Given the description of an element on the screen output the (x, y) to click on. 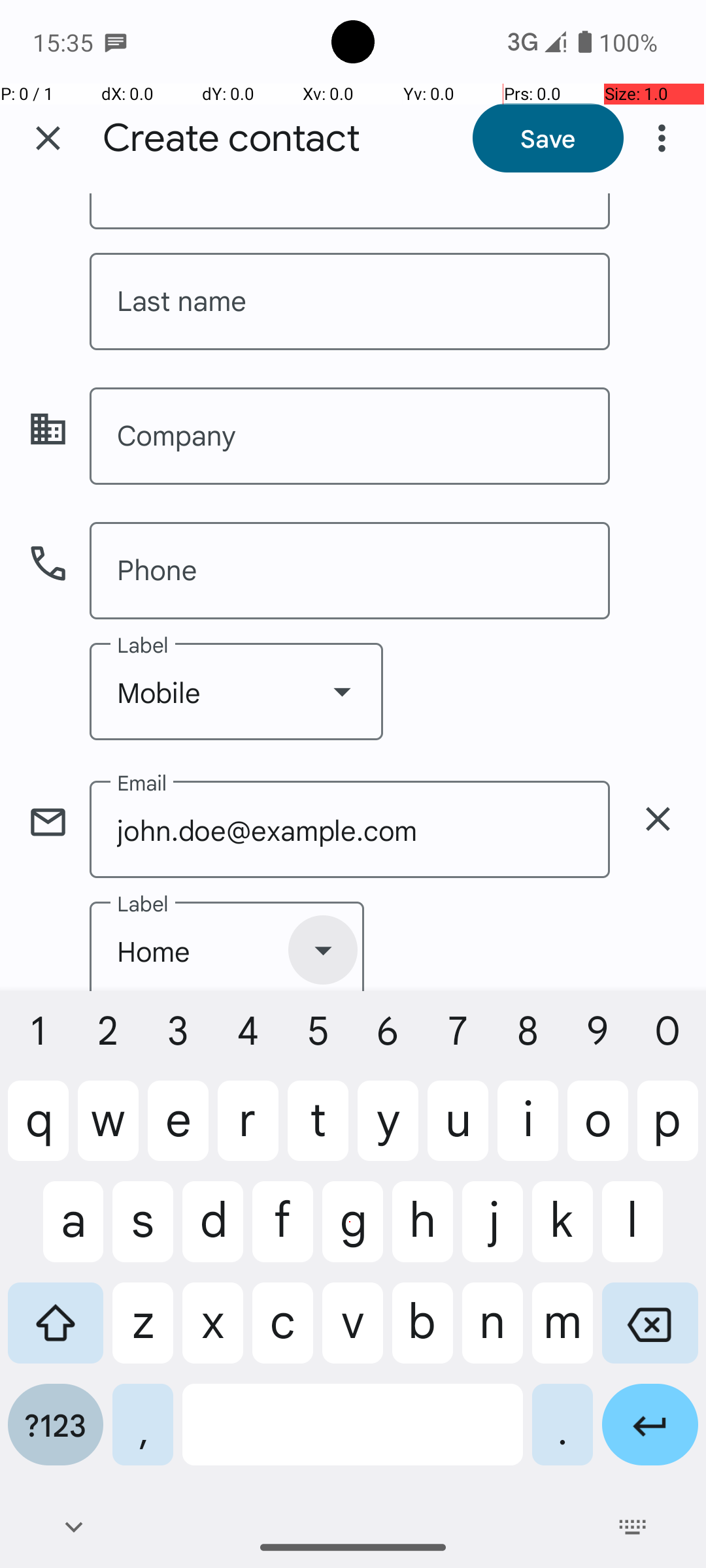
First name Element type: android.widget.EditText (349, 211)
Last name Element type: android.widget.EditText (349, 301)
Mobile Element type: android.widget.Spinner (236, 691)
Show dropdown menu Element type: android.widget.ImageButton (341, 691)
john.doe@example.com Element type: android.widget.EditText (349, 829)
Delete Home Email Element type: android.widget.FrameLayout (657, 818)
Show more name fields Element type: android.widget.ImageView (657, 205)
delete Element type: android.widget.ImageView (657, 818)
